Given the description of an element on the screen output the (x, y) to click on. 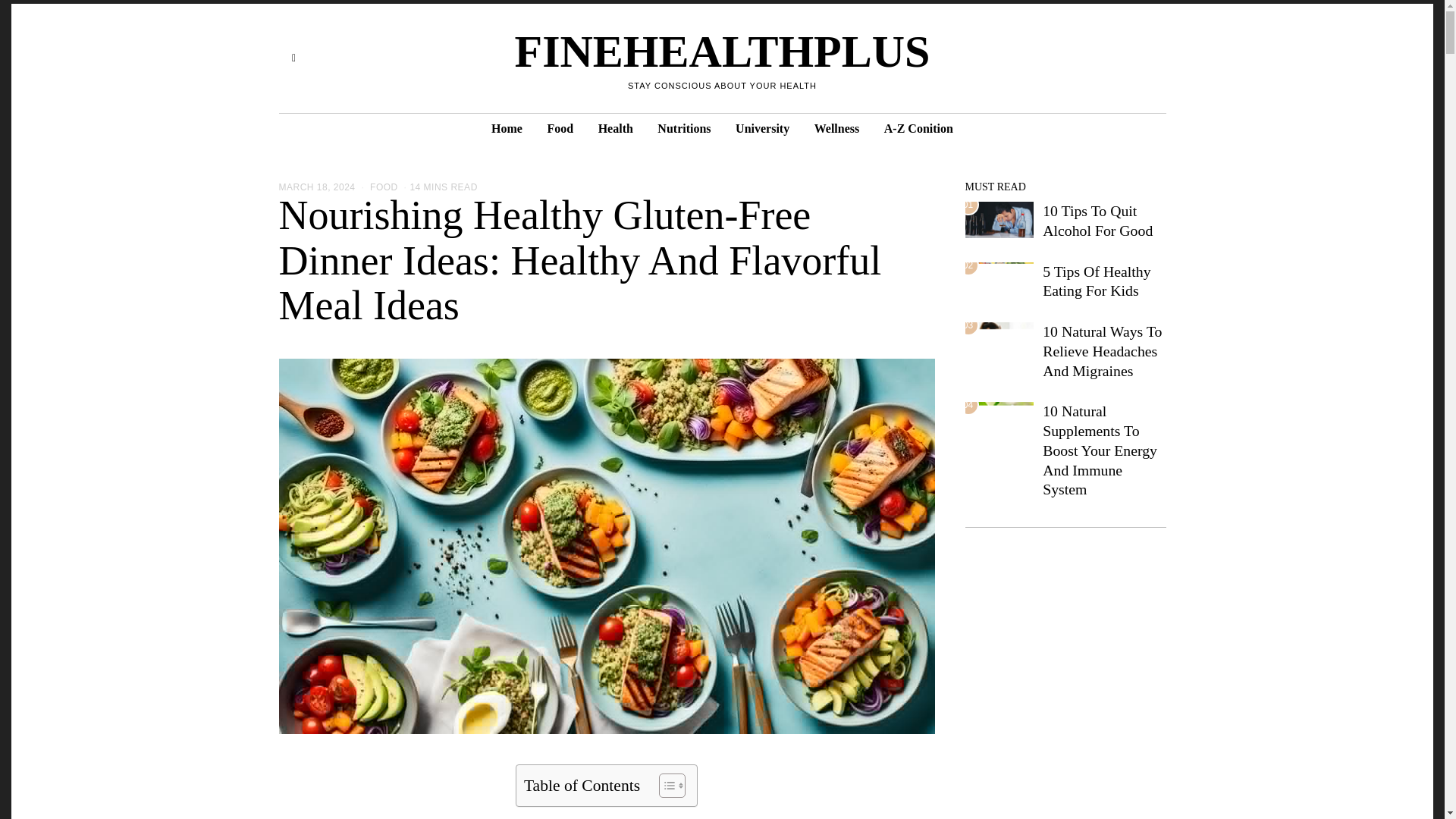
A-Z Conition (918, 128)
Nutritions (683, 128)
Wellness (836, 128)
FOOD (383, 186)
Home (506, 128)
Health (615, 128)
Food (559, 128)
FINEHEALTHPLUS (722, 51)
University (762, 128)
